Given the description of an element on the screen output the (x, y) to click on. 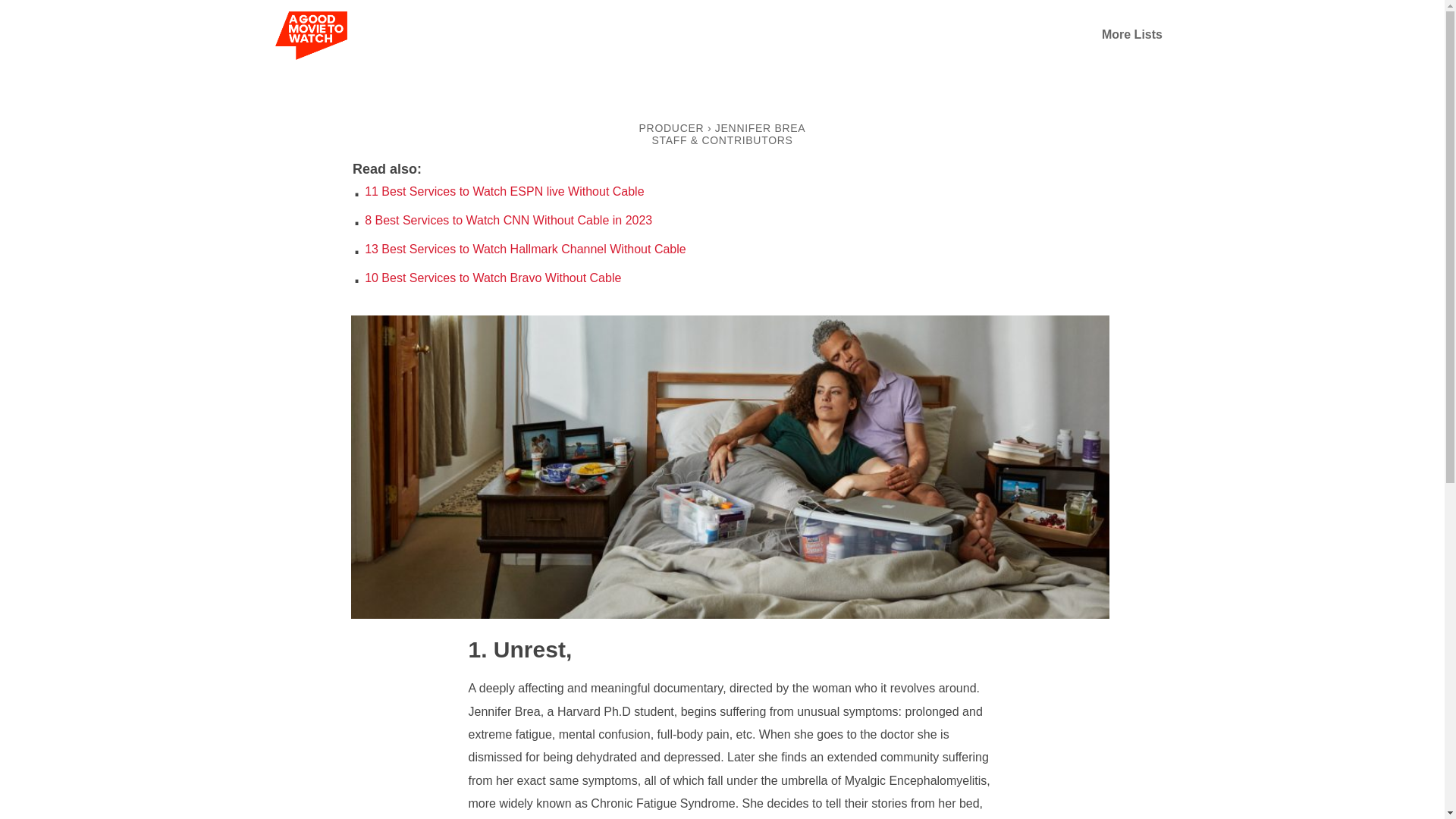
Unrest (517, 649)
Unrest (729, 614)
More Lists (1132, 34)
